Given the description of an element on the screen output the (x, y) to click on. 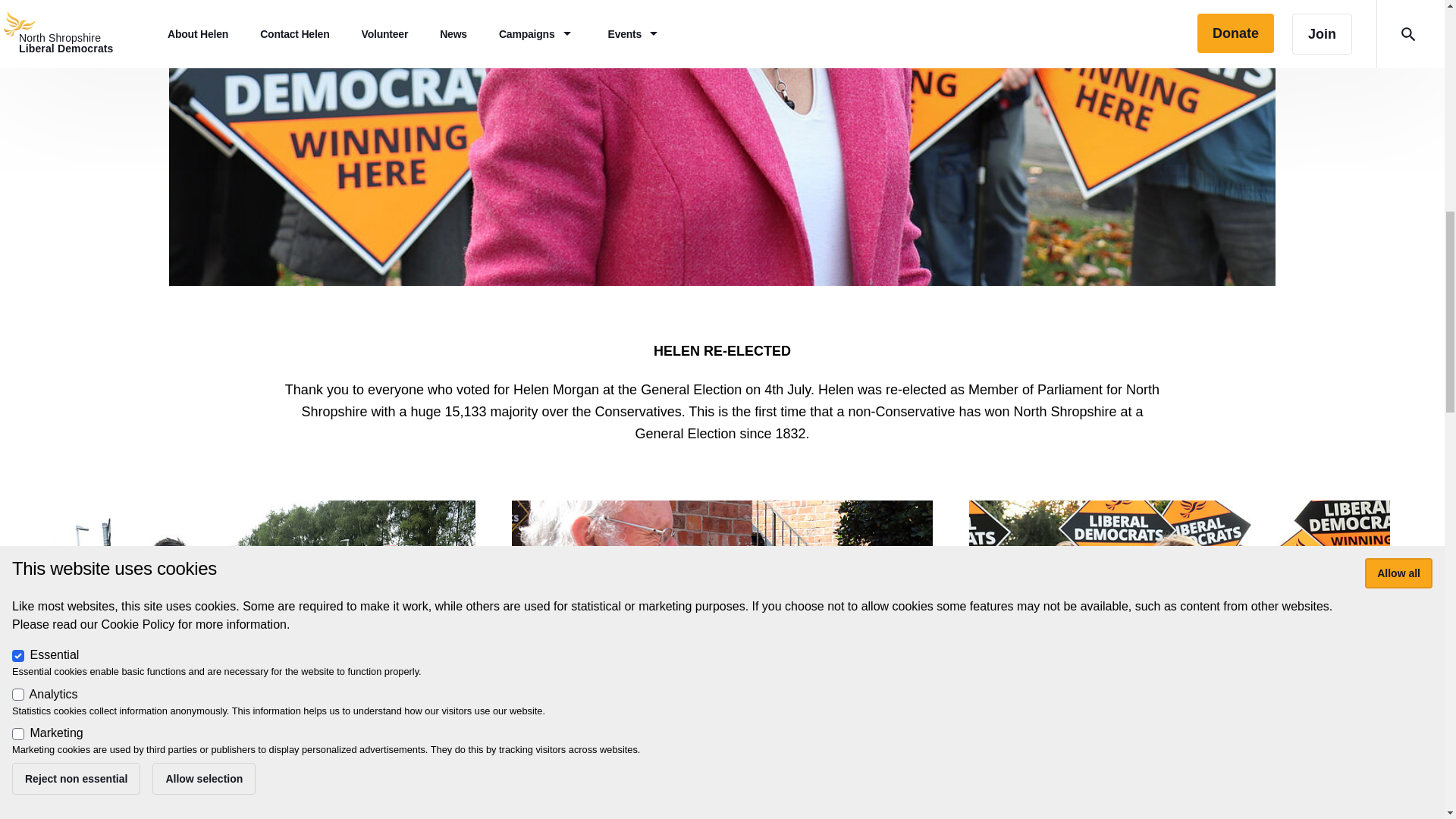
Weekly Updates (722, 618)
Join Helen's Team (1179, 784)
View (722, 654)
Sign up to Helen's Weekly Email Updates (722, 784)
See the latest News from Helen (264, 784)
View (265, 654)
News (265, 618)
View (1179, 654)
Volunteer (1179, 618)
